Given the description of an element on the screen output the (x, y) to click on. 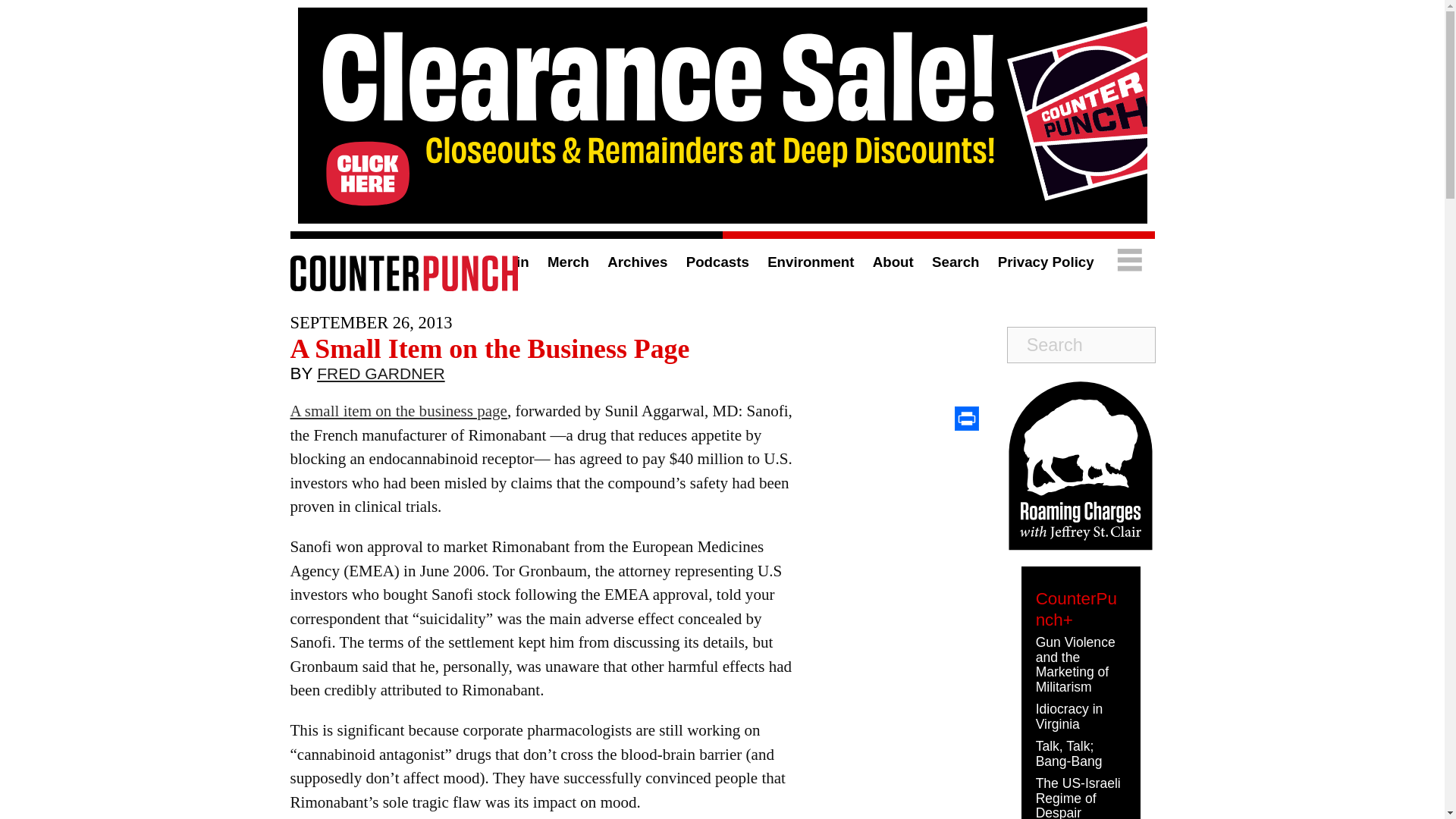
Print This Post (966, 418)
Archives (636, 261)
The US-Israeli Regime of Despair (1078, 797)
A Small Item on the Business Page (488, 348)
About (893, 261)
Privacy Policy (1045, 261)
Idiocracy in Virginia (1069, 716)
Gun Violence and the Marketing of Militarism (1075, 664)
Search (954, 261)
FRED GARDNER (381, 376)
Talk, Talk; Bang-Bang (1068, 753)
Login (509, 261)
Environment (810, 261)
Podcasts (717, 261)
A small item on the business page (397, 411)
